Given the description of an element on the screen output the (x, y) to click on. 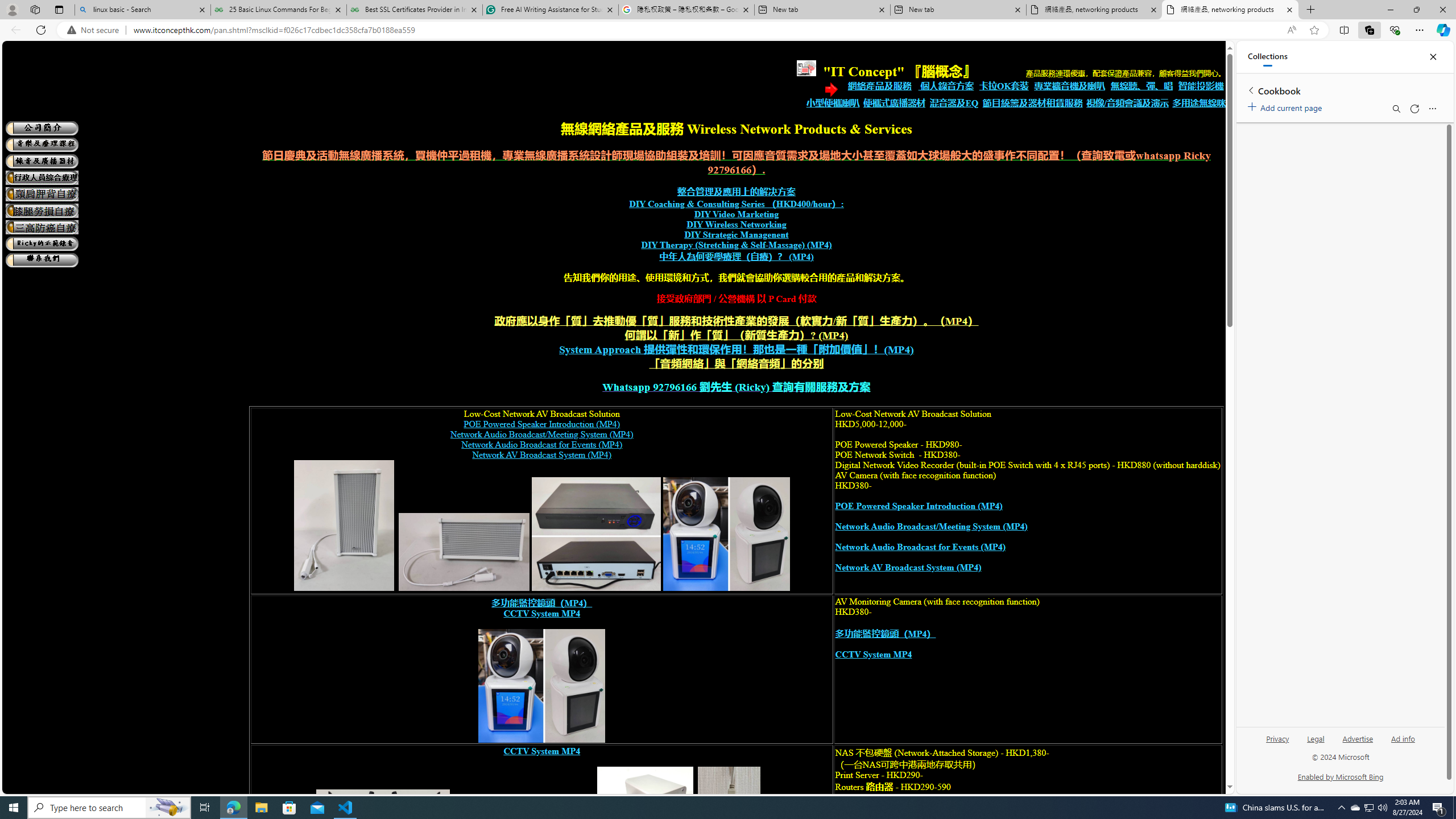
25 Basic Linux Commands For Beginners - GeeksforGeeks (277, 9)
Free AI Writing Assistance for Students | Grammarly (550, 9)
Back to list of collections (1250, 90)
wireless network camera, (542, 685)
